Given the description of an element on the screen output the (x, y) to click on. 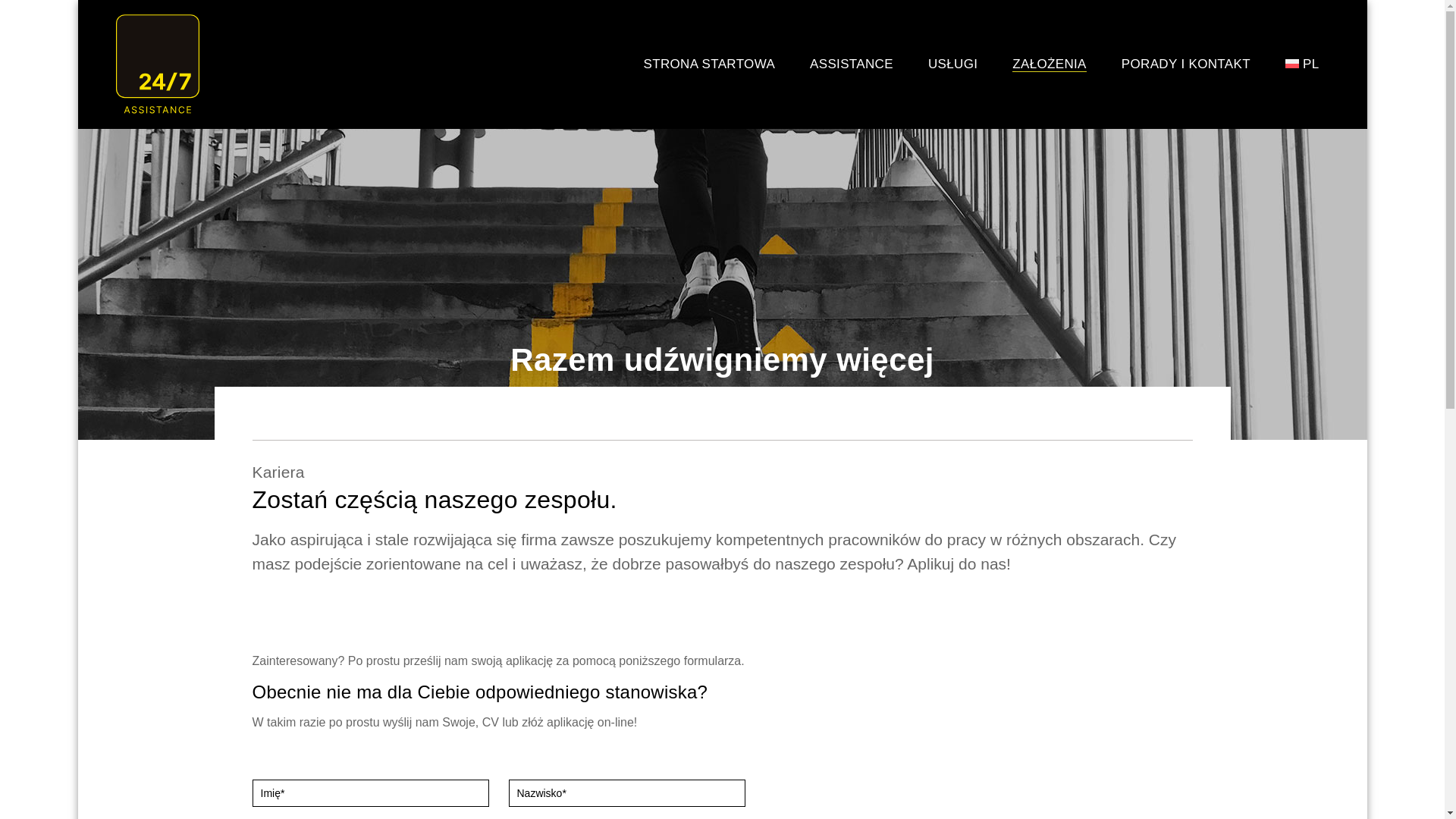
ASSISTANCE Element type: text (851, 64)
PORADY I KONTAKT Element type: text (1185, 64)
STRONA STARTOWA Element type: text (709, 64)
PL Element type: text (1302, 64)
